Given the description of an element on the screen output the (x, y) to click on. 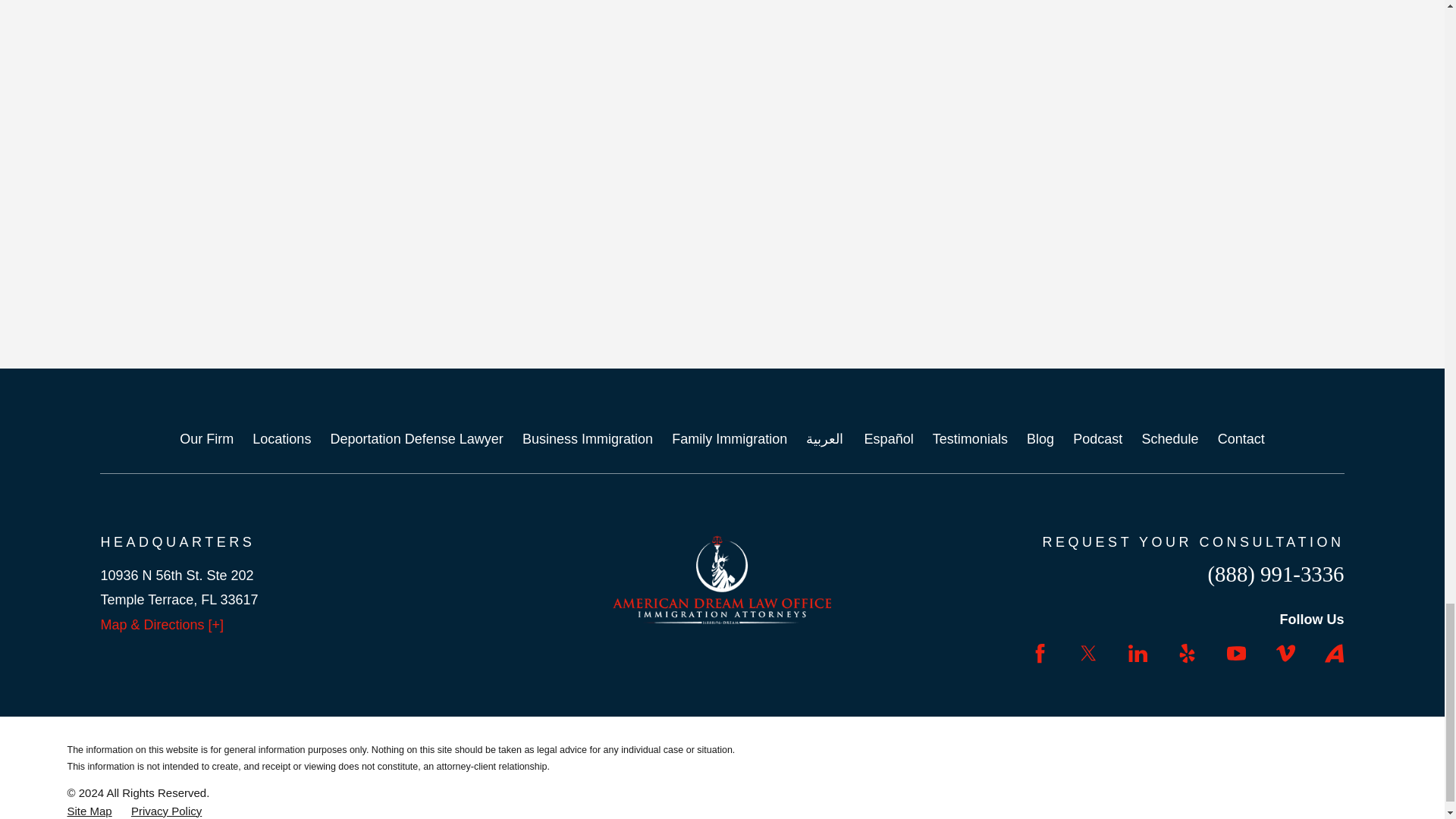
LinkedIn (1137, 652)
Home (721, 579)
Twitter (1087, 652)
Yelp (1186, 652)
Facebook (1039, 652)
